Given the description of an element on the screen output the (x, y) to click on. 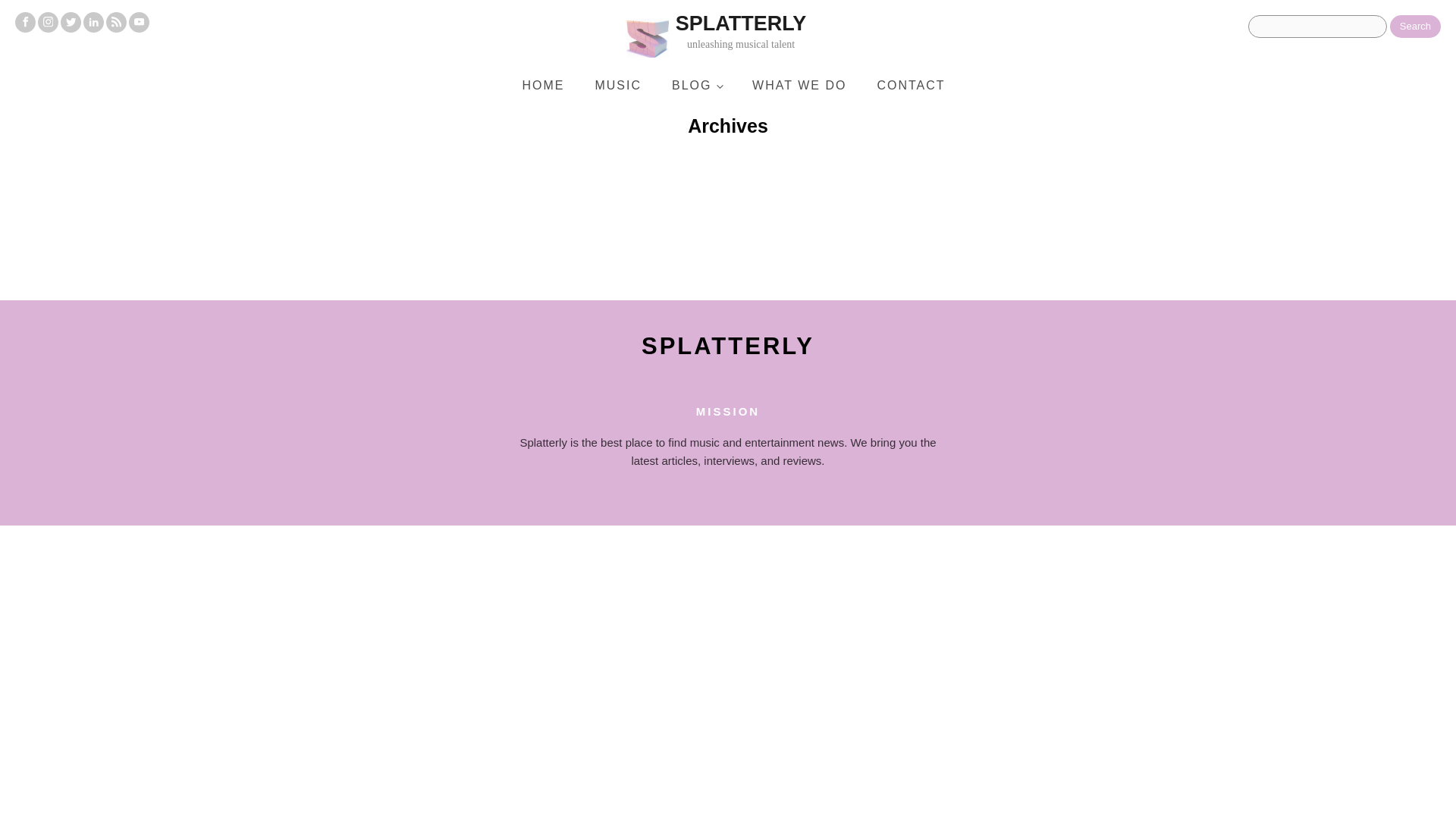
BLOG (696, 85)
CONTACT (910, 85)
Search (1415, 26)
MUSIC (617, 85)
Search (1415, 26)
SPLATTERLY (759, 36)
HOME (727, 346)
WHAT WE DO (542, 85)
